Given the description of an element on the screen output the (x, y) to click on. 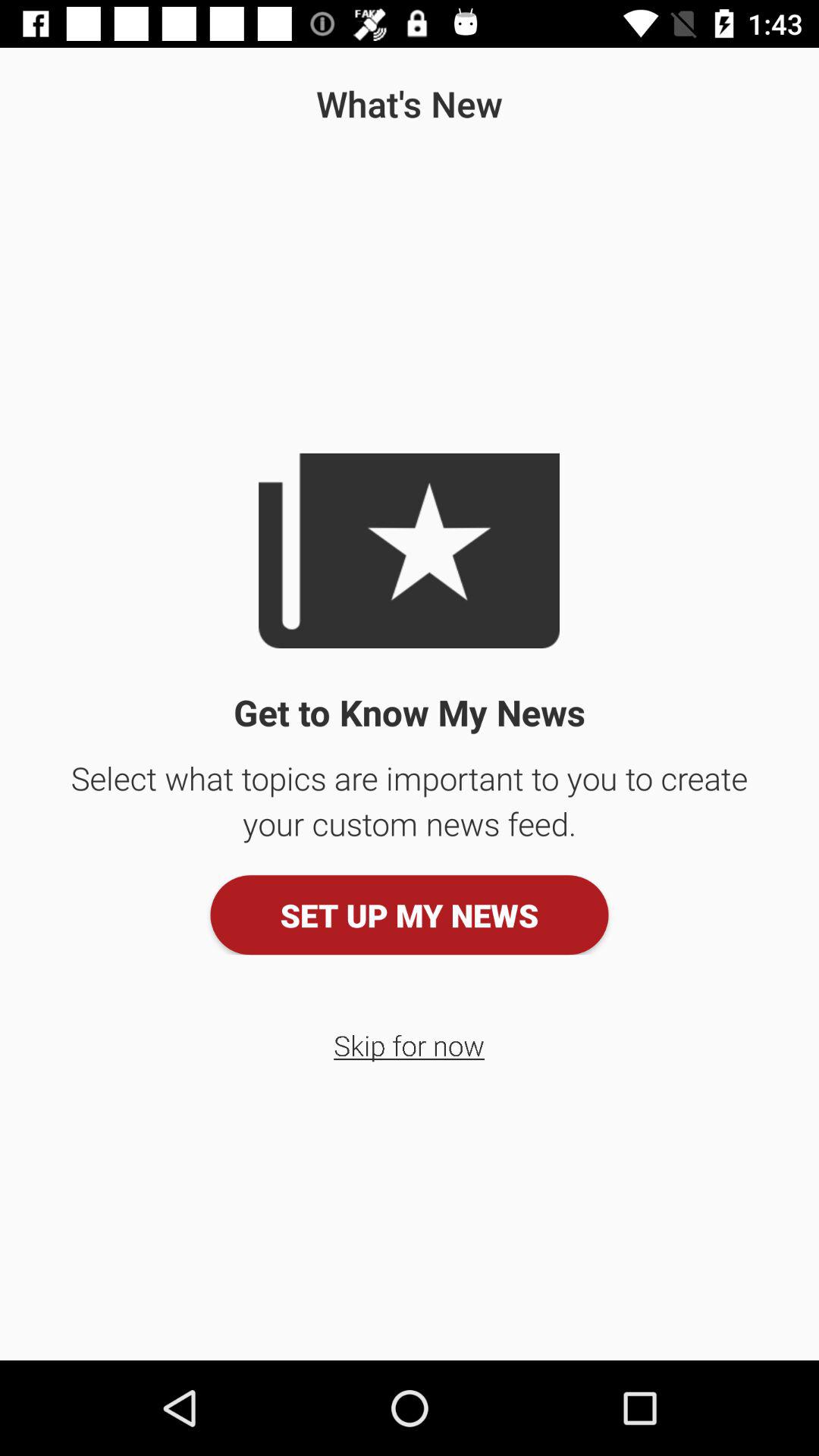
press the item above skip for now (409, 914)
